Given the description of an element on the screen output the (x, y) to click on. 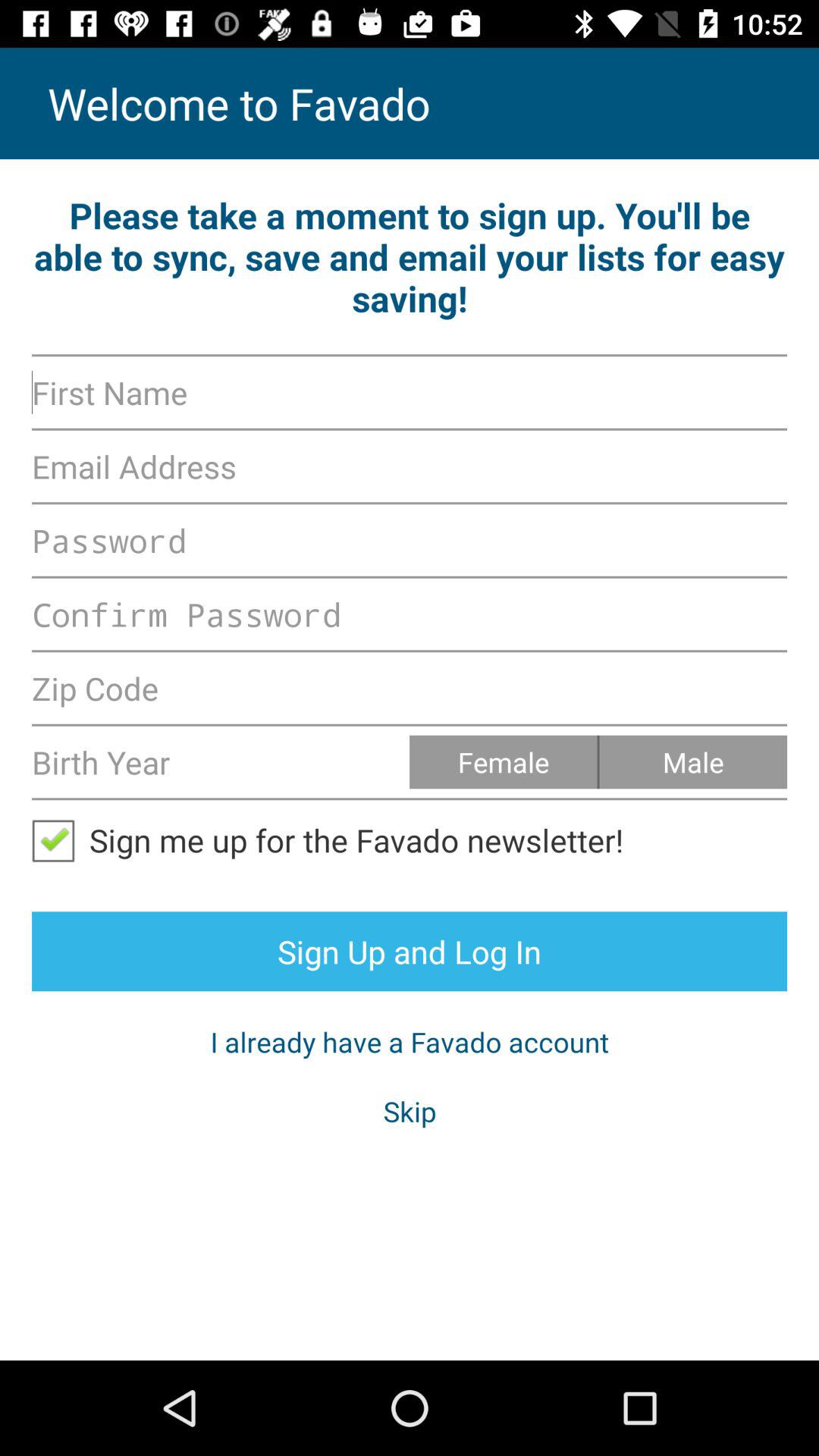
toggle whether you want to sign up for a favado newsletter (60, 839)
